Given the description of an element on the screen output the (x, y) to click on. 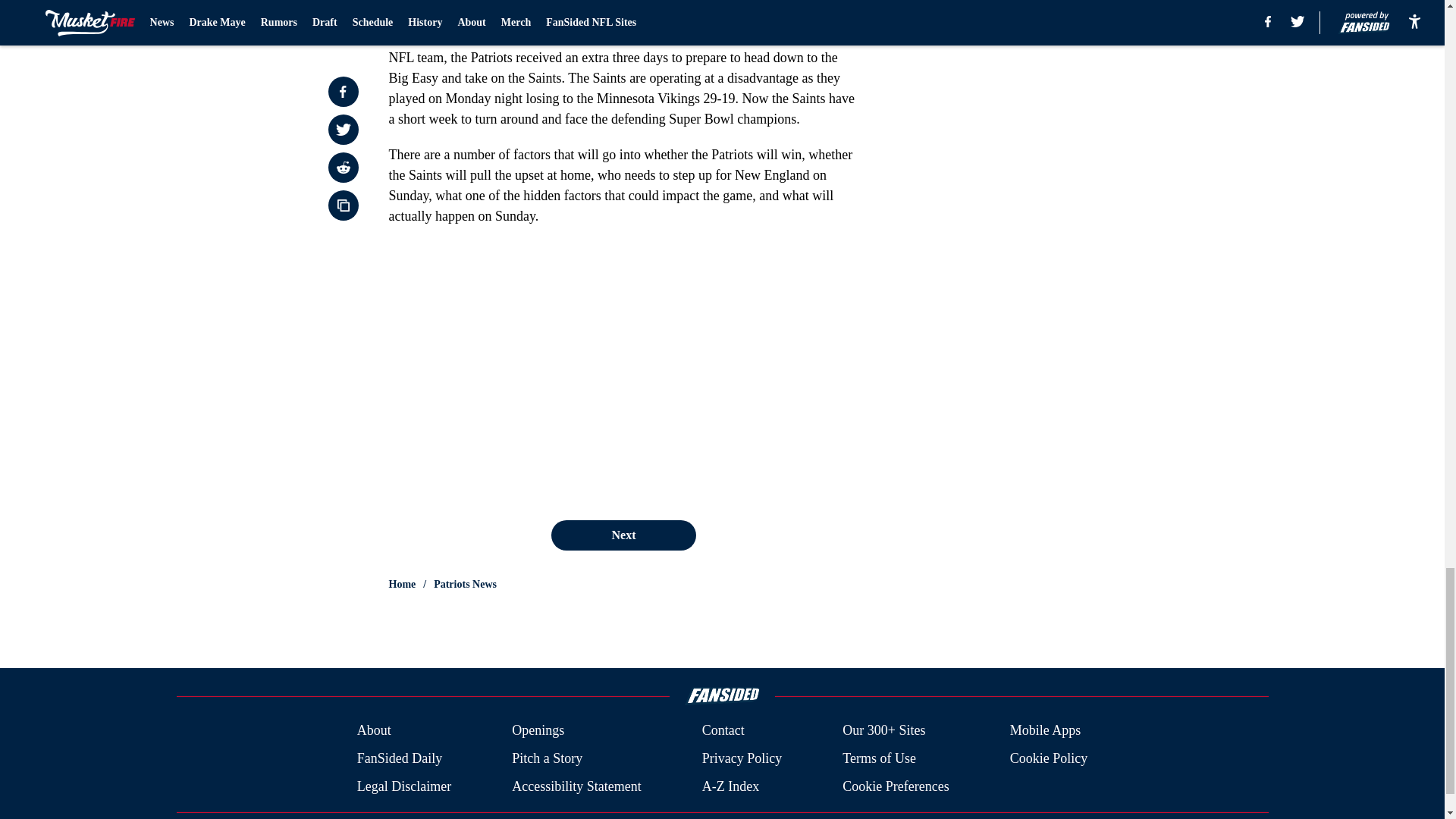
Contact (722, 730)
About (373, 730)
Patriots News (464, 584)
Home (401, 584)
Next (622, 535)
FanSided Daily (399, 758)
Mobile Apps (1045, 730)
Openings (538, 730)
